Given the description of an element on the screen output the (x, y) to click on. 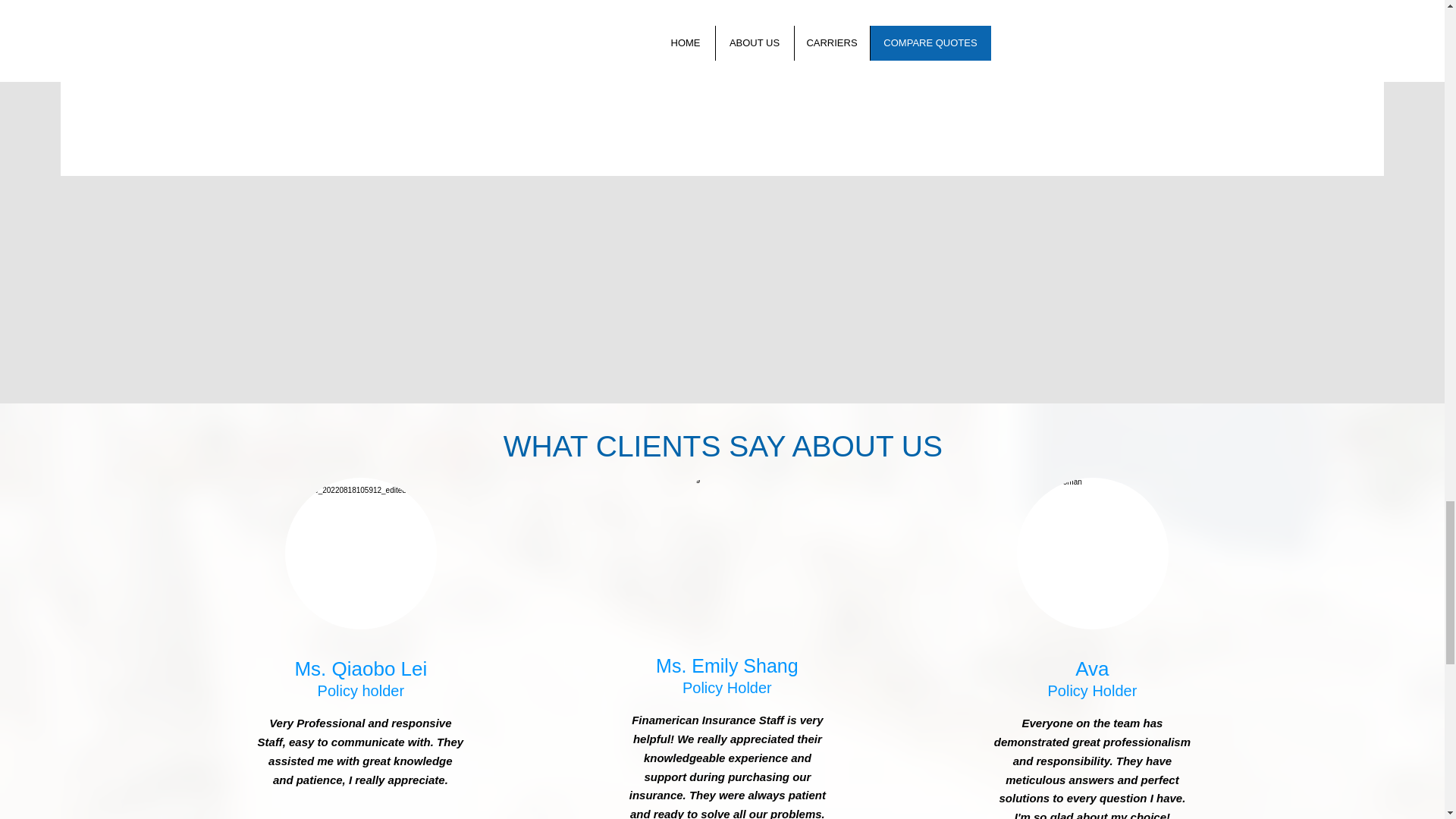
GettyImages-124893619.jpg (726, 550)
GettyImages-145680711.jpg (1092, 553)
GettyImages-535587703.jpg (360, 553)
